Given the description of an element on the screen output the (x, y) to click on. 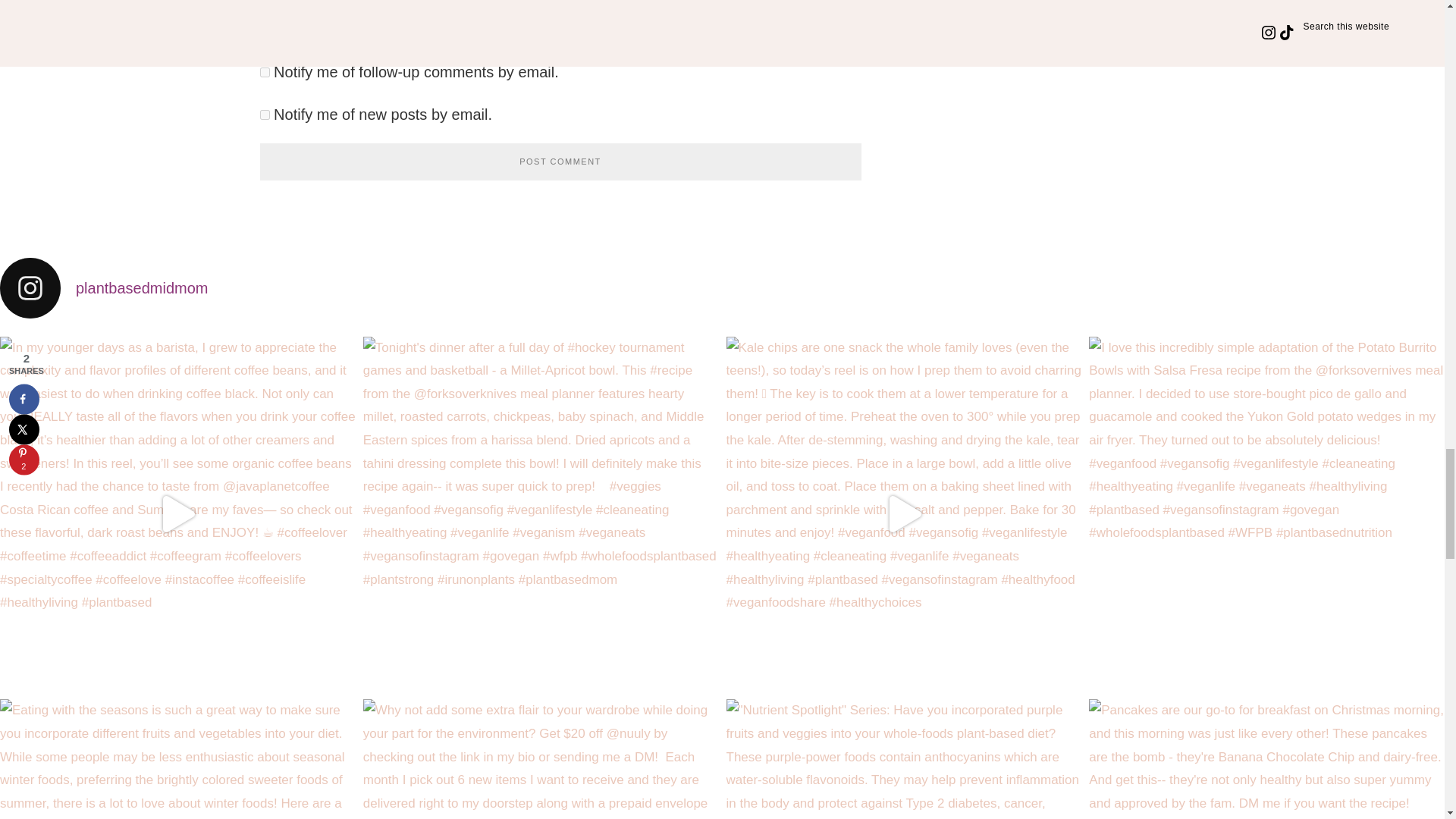
subscribe (264, 114)
subscribe (264, 71)
Post Comment (559, 161)
Post Comment (559, 161)
